Given the description of an element on the screen output the (x, y) to click on. 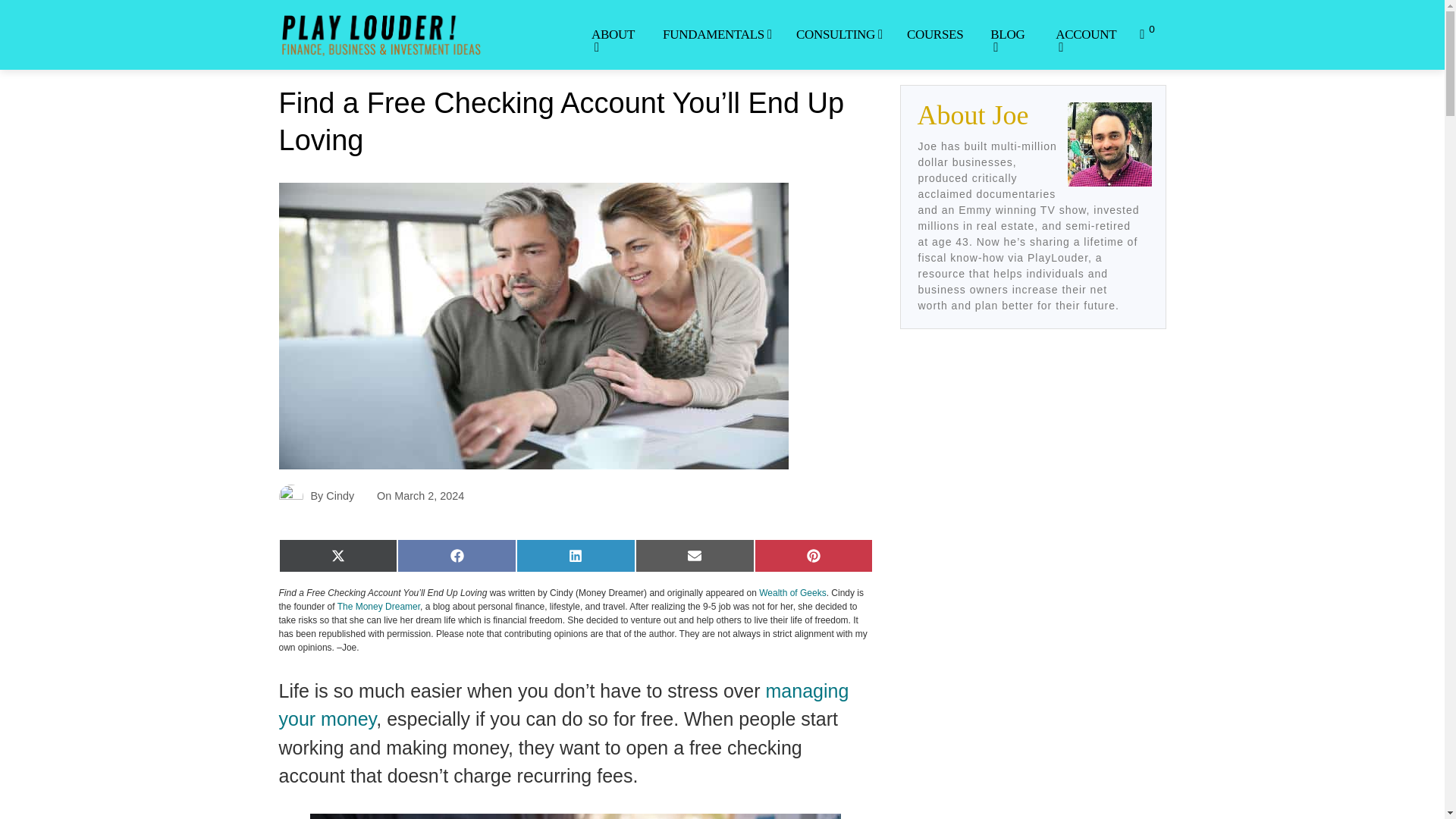
CONSULTING (837, 33)
0 (1147, 33)
ABOUT (612, 40)
COURSES (934, 33)
View your shopping cart (1147, 33)
BLOG (1008, 40)
FUNDAMENTALS (715, 33)
ACCOUNT (1083, 40)
